Given the description of an element on the screen output the (x, y) to click on. 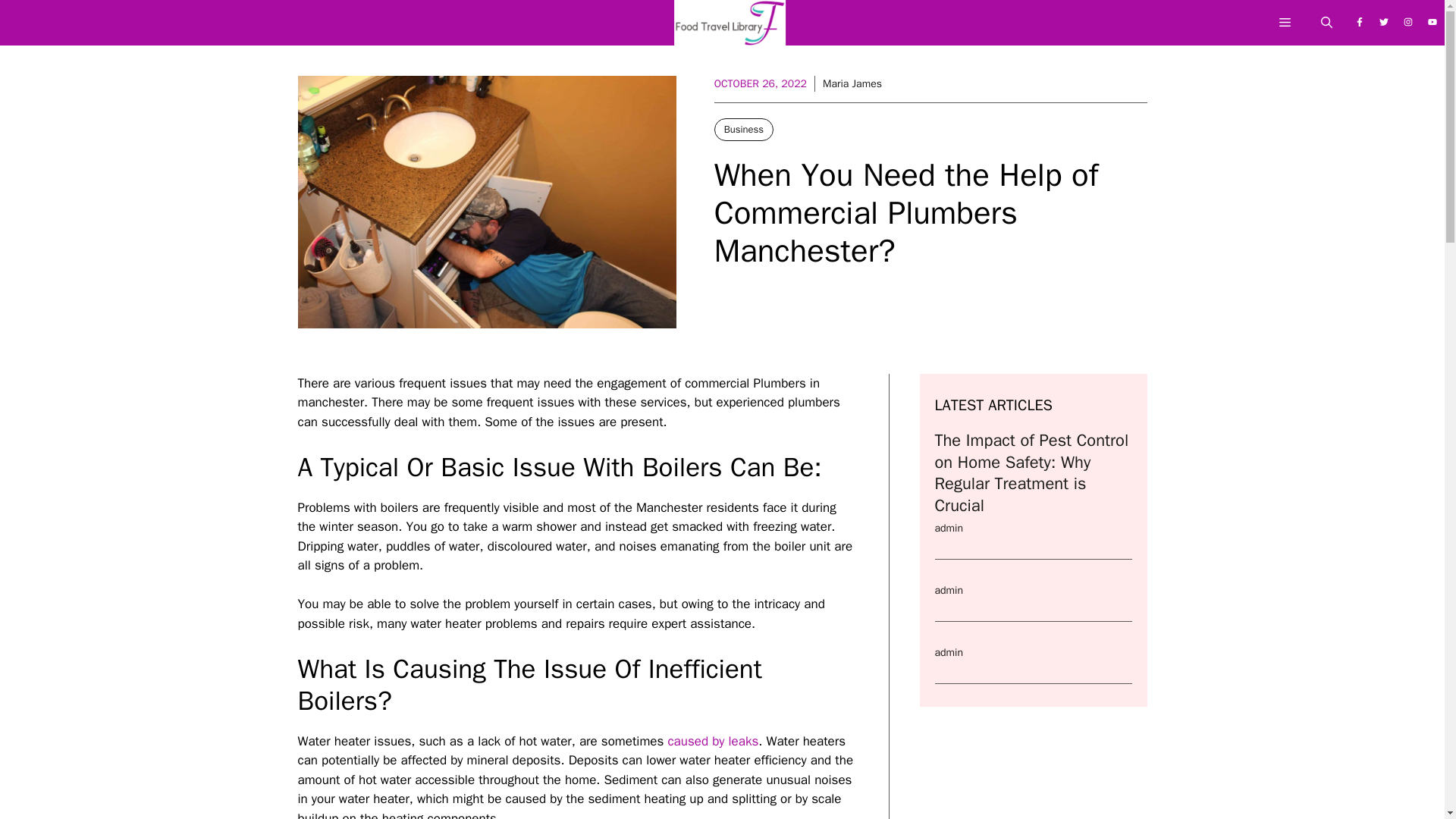
admin (948, 590)
Business (743, 128)
Maria James (852, 83)
admin (948, 652)
admin (948, 527)
caused by leaks (710, 741)
Food Travel Library (730, 26)
